Given the description of an element on the screen output the (x, y) to click on. 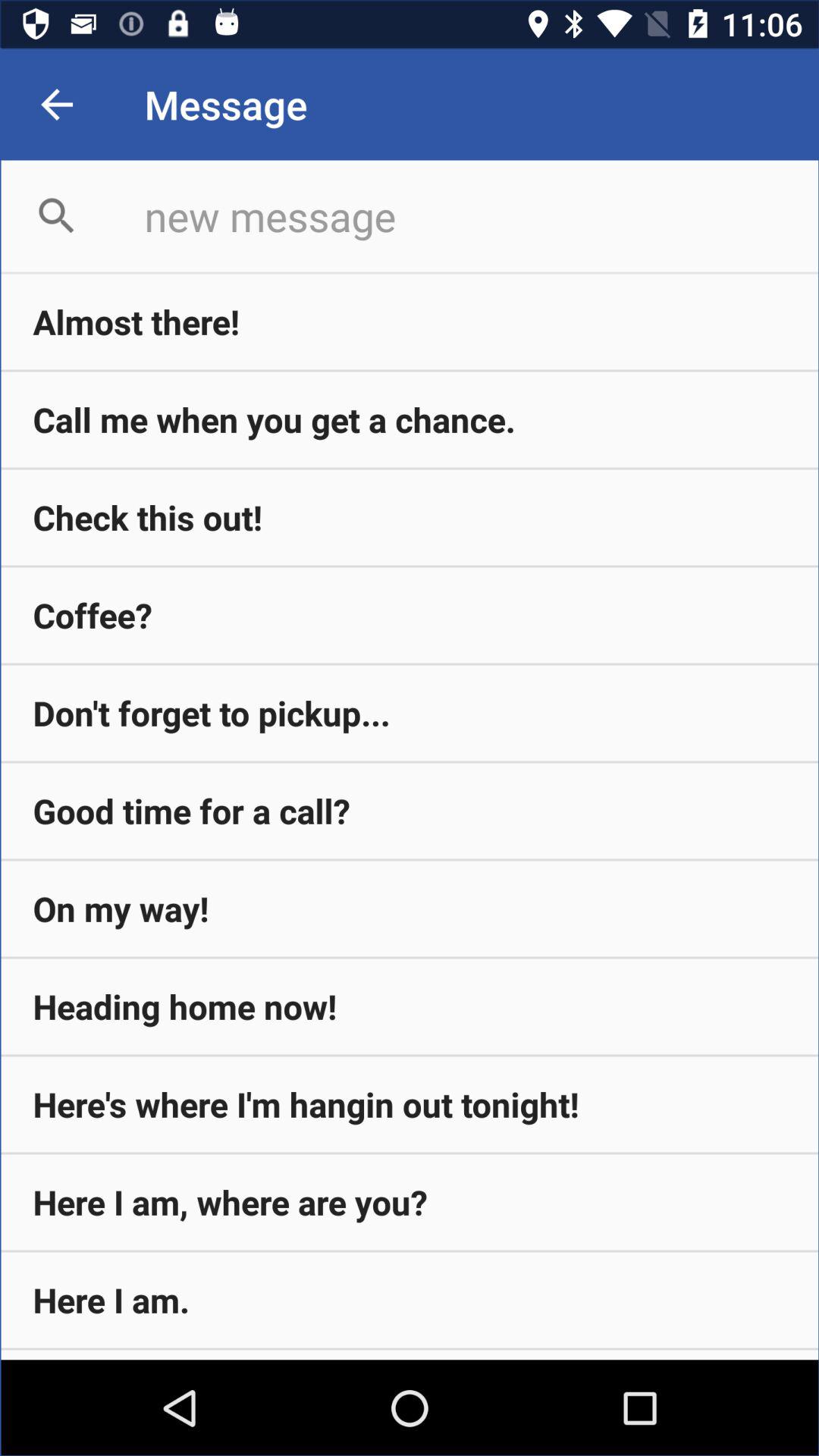
launch the on my way! (409, 908)
